Given the description of an element on the screen output the (x, y) to click on. 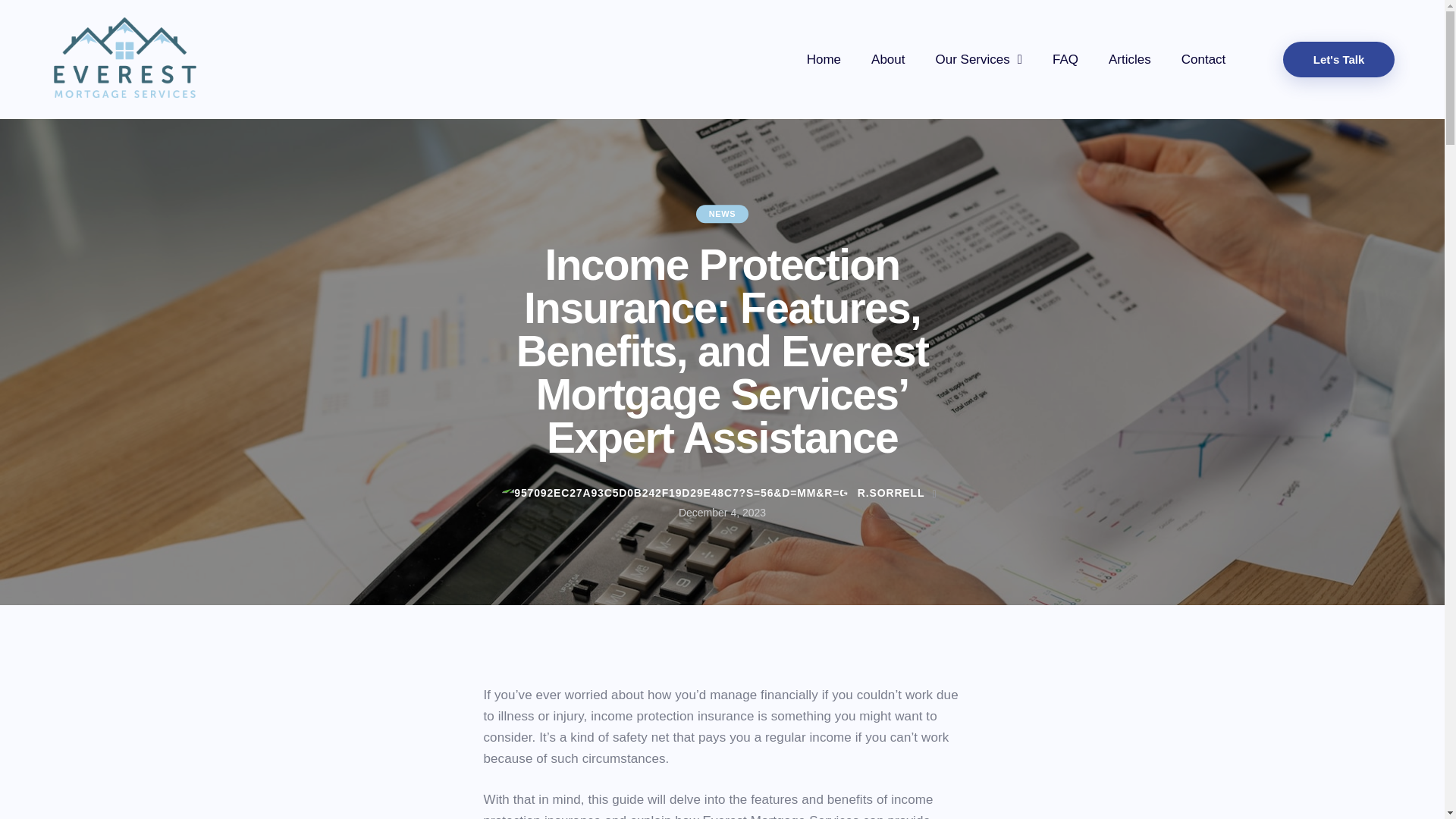
Articles (1129, 59)
FAQ (1064, 59)
Our Services (978, 59)
Contact (1203, 59)
About (888, 59)
Home (824, 59)
Let's Talk (1338, 58)
